Given the description of an element on the screen output the (x, y) to click on. 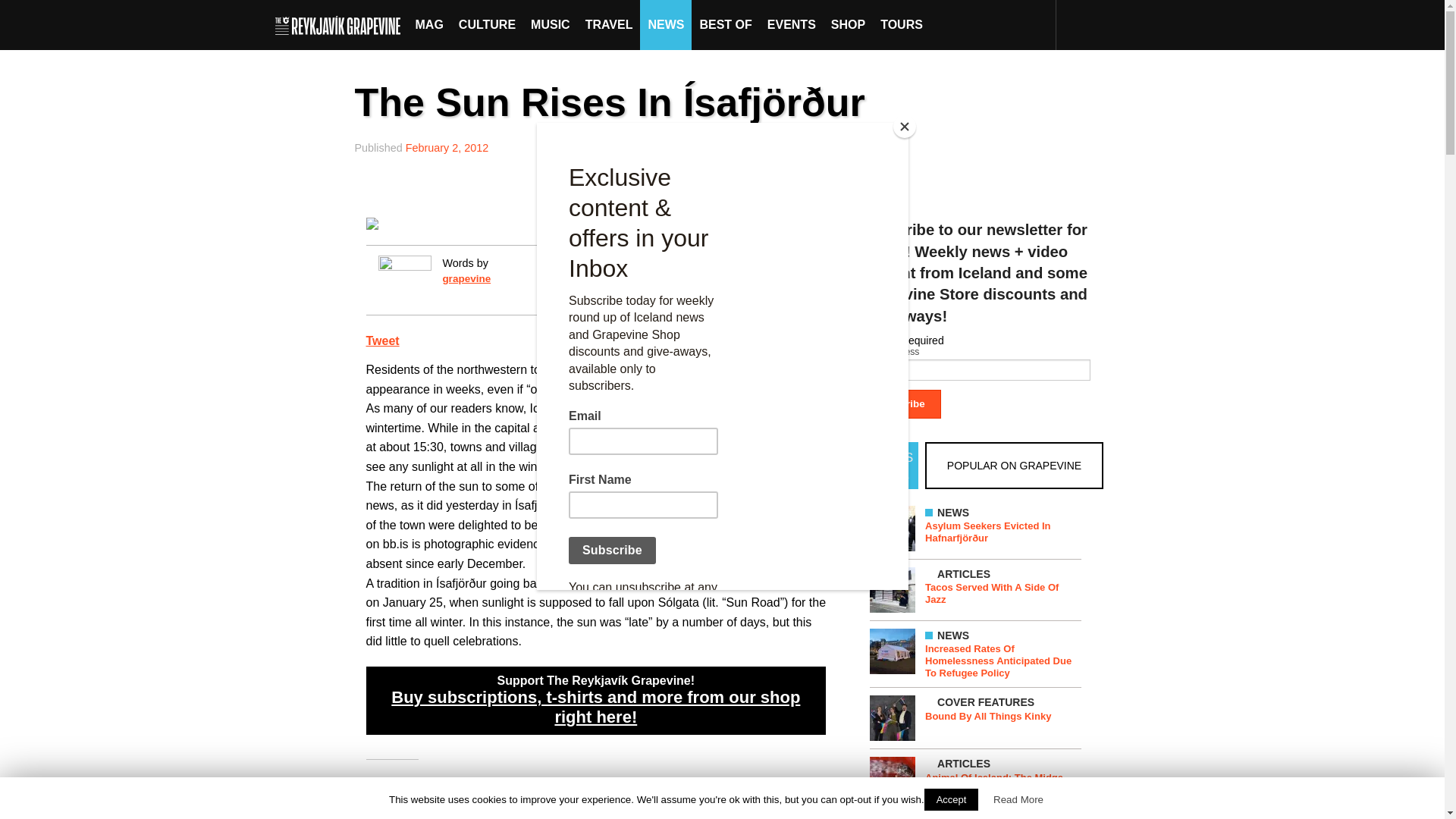
NEWS (665, 24)
The Reykjavik Grapevine (341, 24)
TRAVEL (609, 24)
Subscribe (900, 403)
Tweet (381, 340)
grapevine (466, 278)
MUSIC (550, 24)
BEST OF (724, 24)
TOURS (901, 24)
CULTURE (486, 24)
EVENTS (792, 24)
SHOP (848, 24)
Posts by grapevine (466, 278)
